Given the description of an element on the screen output the (x, y) to click on. 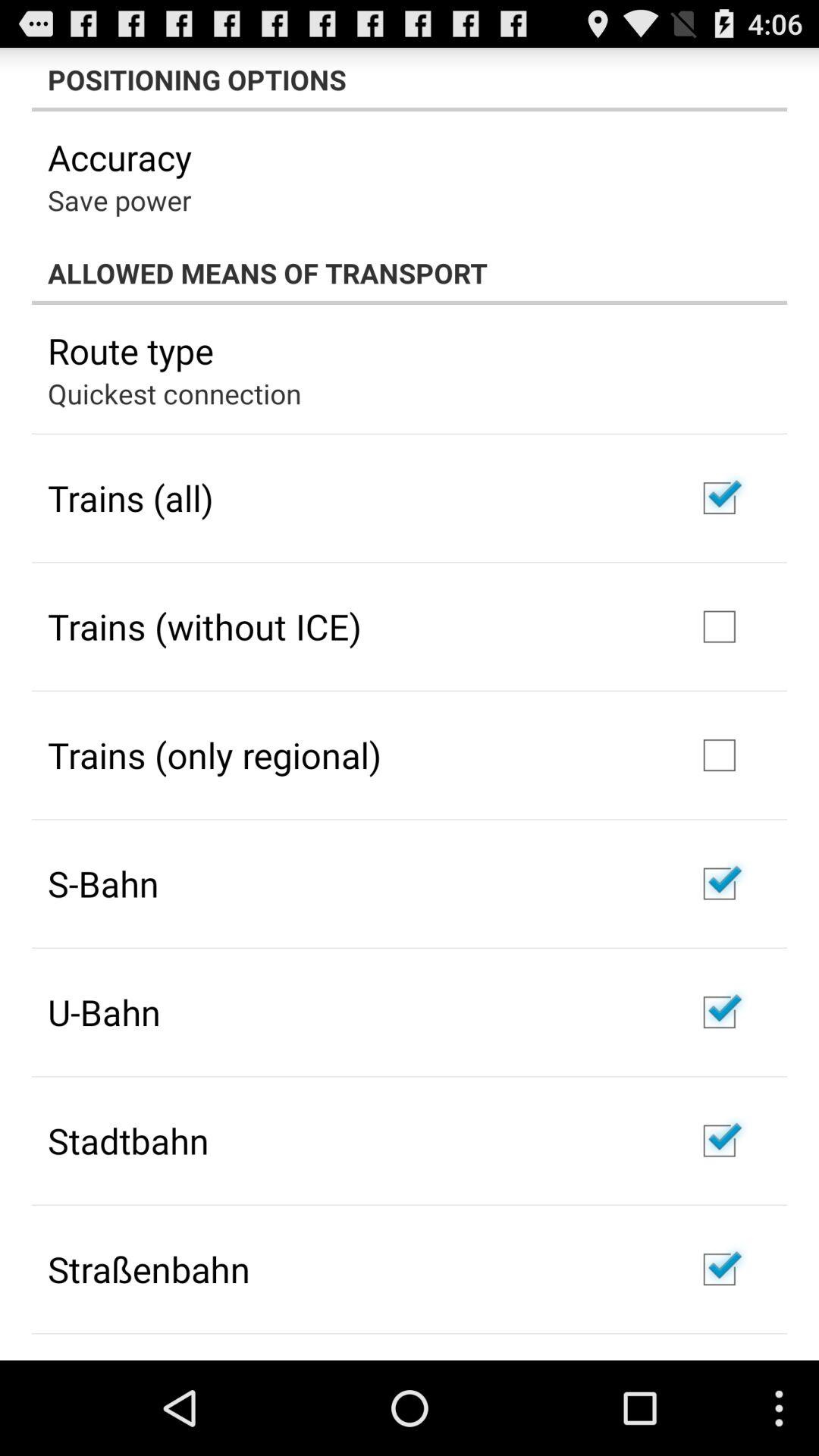
press s-bahn item (102, 883)
